Given the description of an element on the screen output the (x, y) to click on. 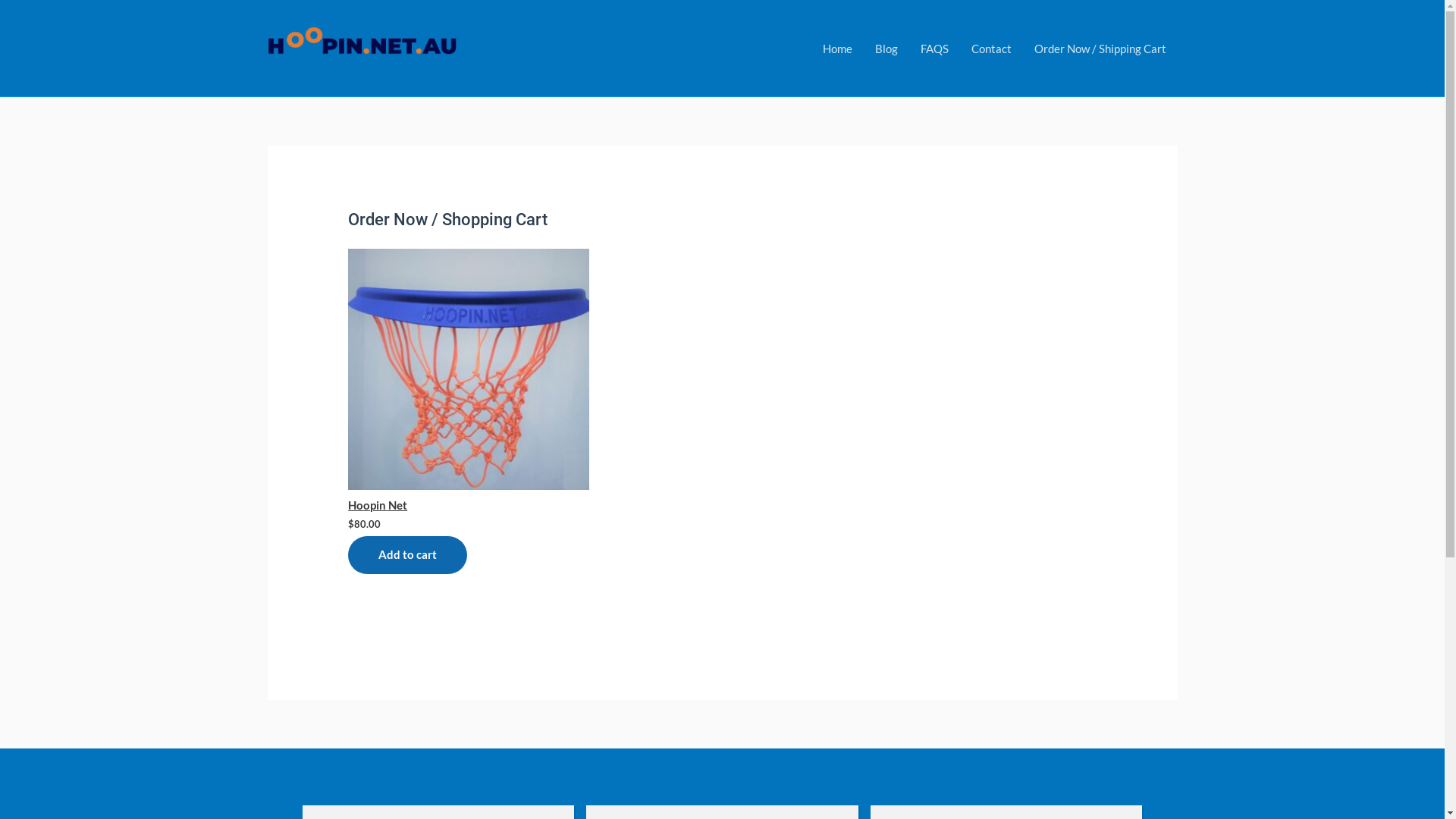
FAQS Element type: text (933, 47)
Hoopin Net Element type: text (468, 380)
Order Now / Shipping Cart Element type: text (1099, 47)
Home Element type: text (837, 47)
Blog Element type: text (885, 47)
Add to cart Element type: text (407, 555)
Contact Element type: text (991, 47)
